Given the description of an element on the screen output the (x, y) to click on. 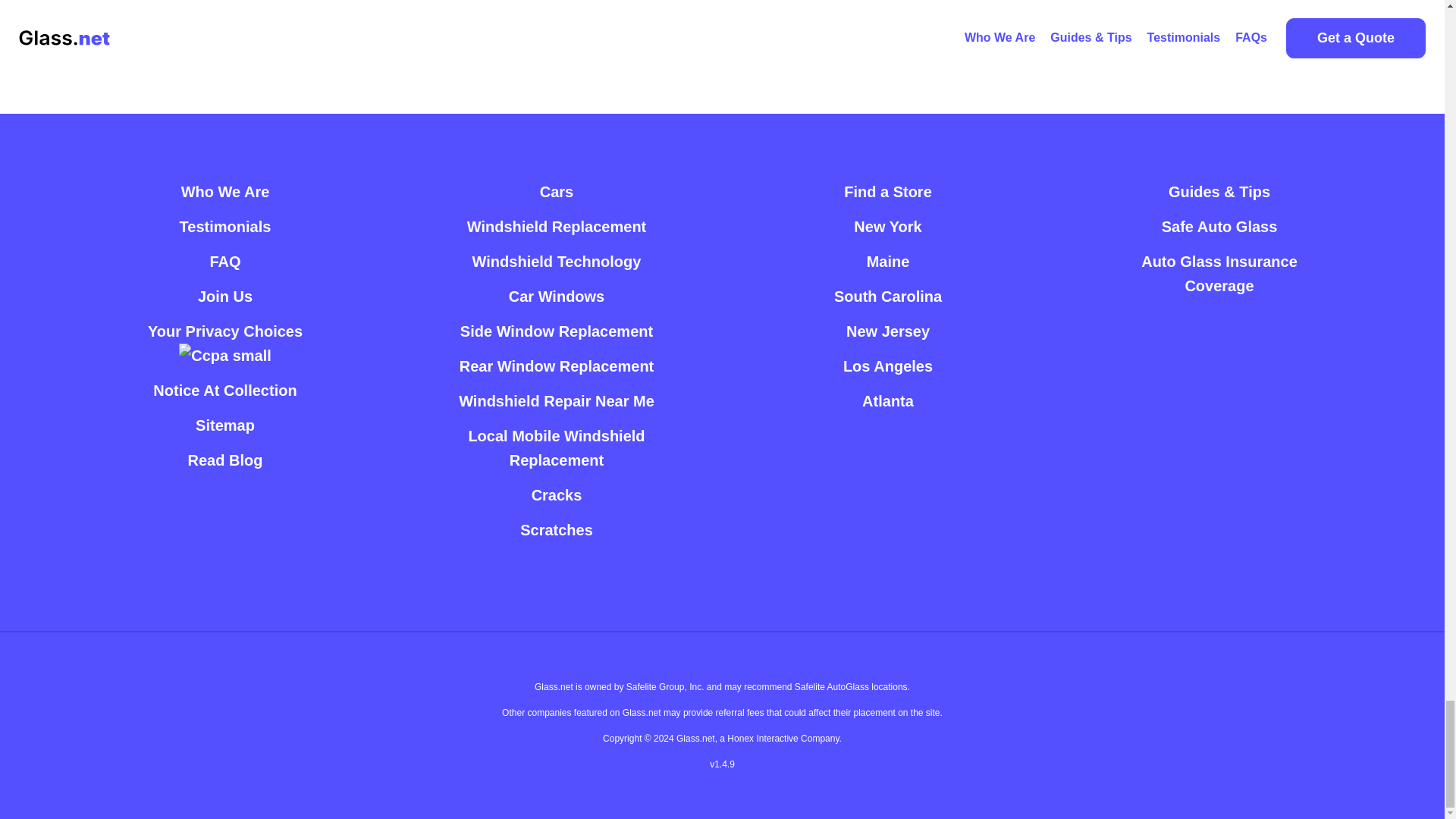
A Market Place for Car Glass (224, 191)
Rear Window Replacement (556, 366)
Who We Are (224, 191)
Local Mobile Windshield Replacement (555, 447)
Scratches (555, 529)
Windshield Technology (556, 261)
Join Us (224, 296)
Testimonials (224, 226)
Glass.NET Website Sitemap  (224, 425)
Car Windows (556, 296)
